Given the description of an element on the screen output the (x, y) to click on. 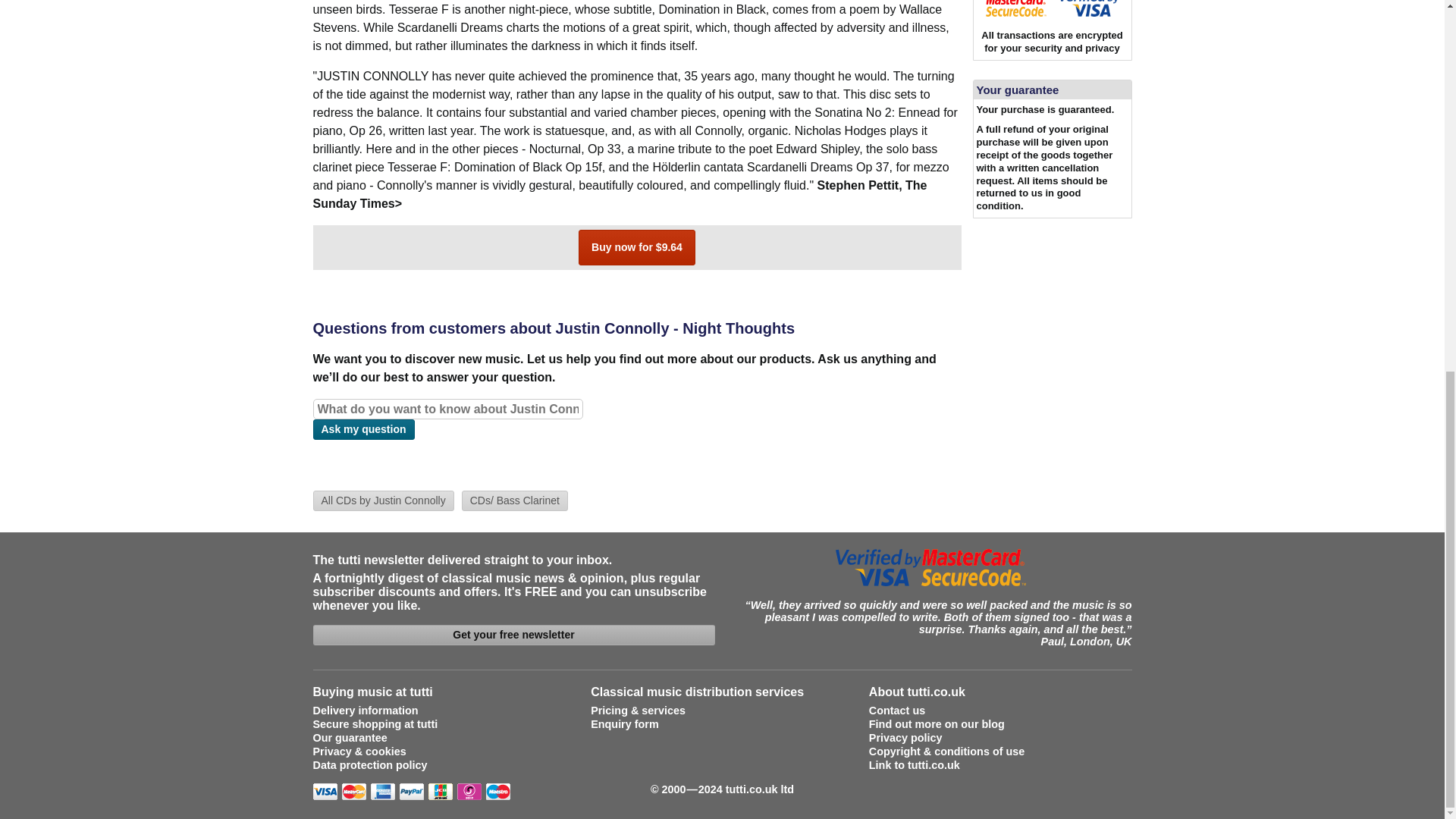
All CDs by Justin Connolly (382, 500)
Ask my question (363, 429)
